Given the description of an element on the screen output the (x, y) to click on. 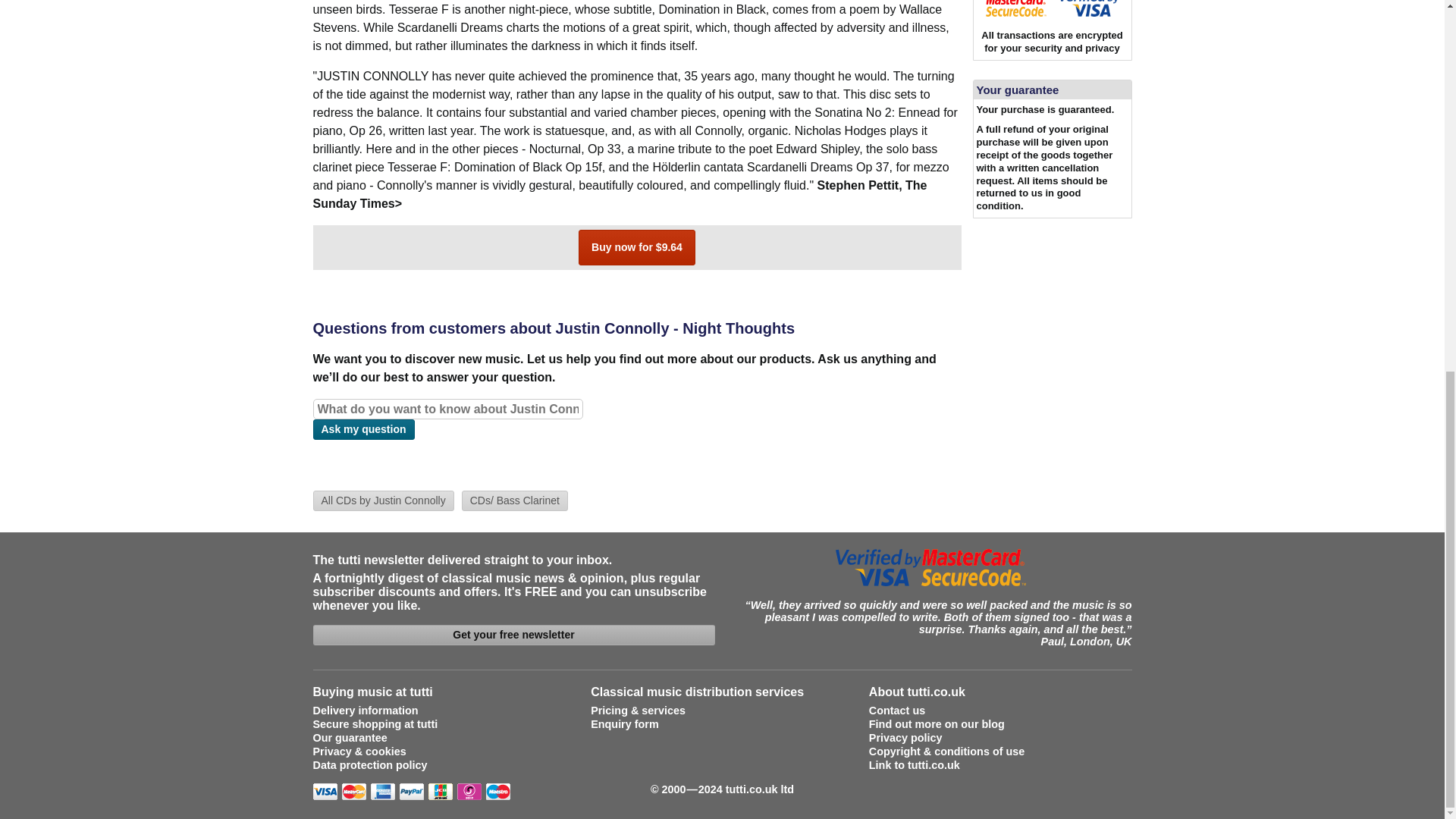
All CDs by Justin Connolly (382, 500)
Ask my question (363, 429)
